Given the description of an element on the screen output the (x, y) to click on. 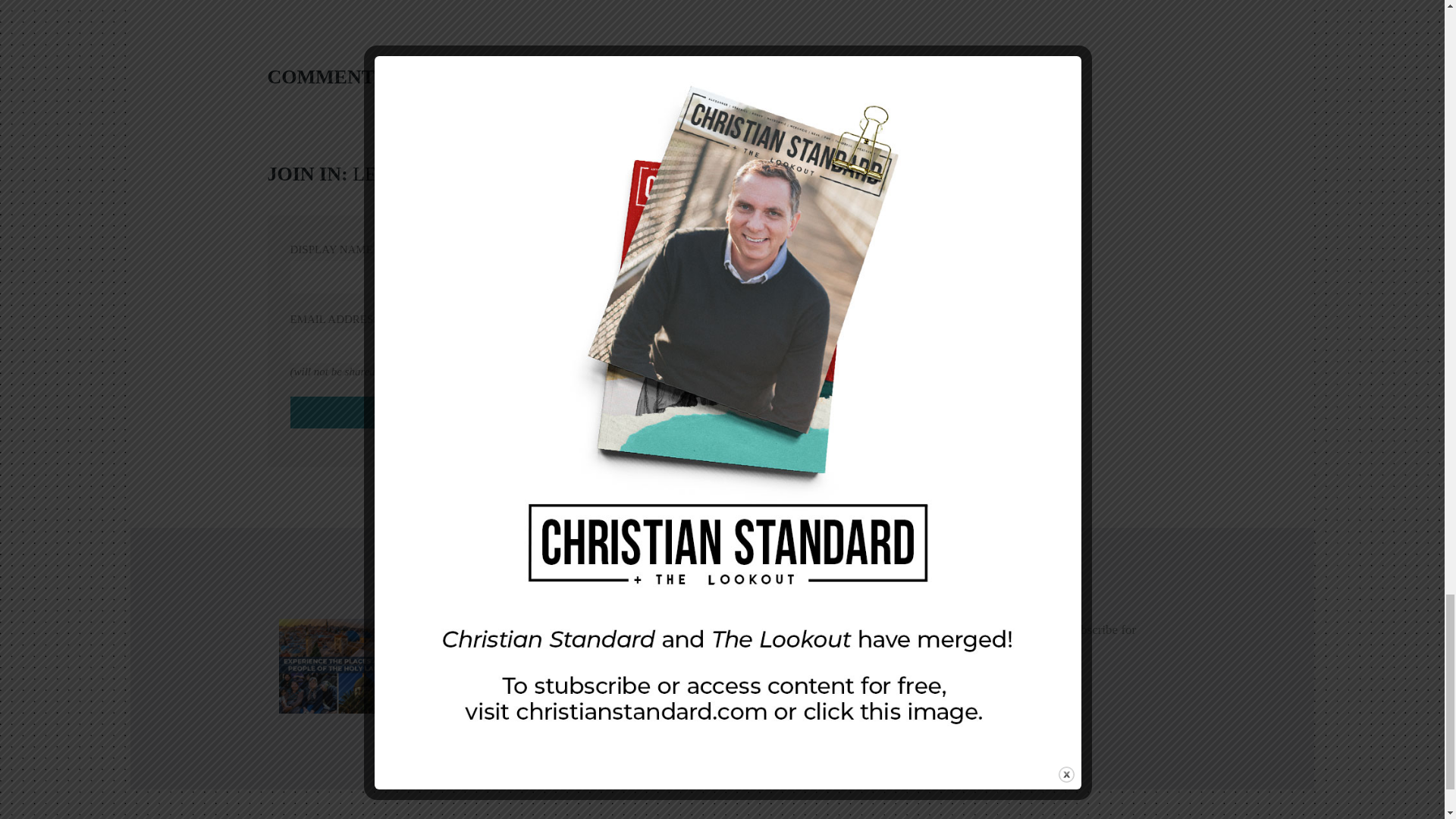
Submit Comment (422, 412)
